Given the description of an element on the screen output the (x, y) to click on. 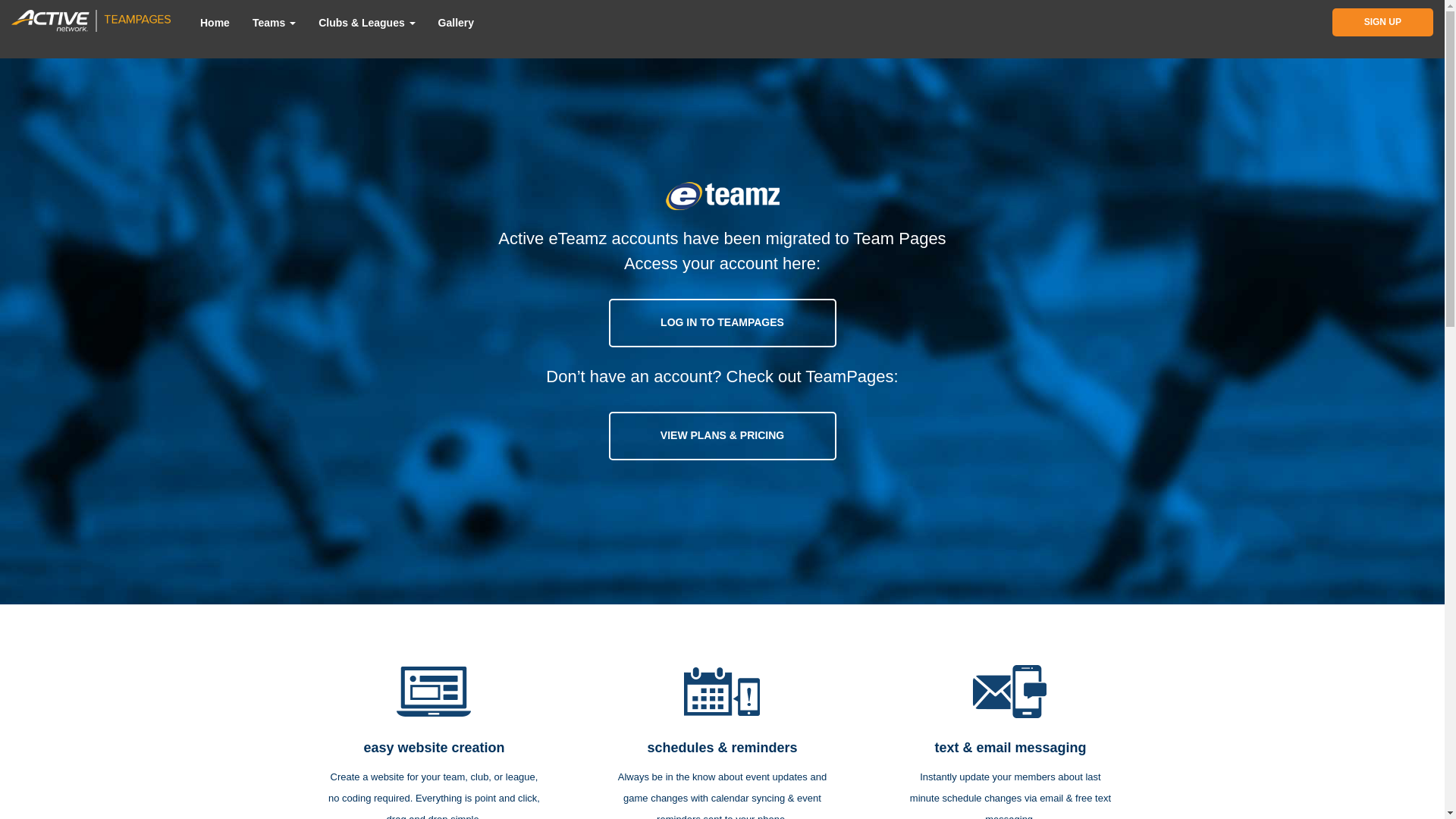
Home (223, 26)
Gallery (452, 26)
Return to Homepage (111, 39)
Return to Homepage (100, 18)
LOG IN TO TEAMPAGES (721, 322)
SIGN UP (1304, 27)
SIGN UP (1381, 22)
Teams (277, 26)
Home (215, 22)
LOGIN (1391, 27)
Gallery (455, 22)
Teams (274, 22)
